Given the description of an element on the screen output the (x, y) to click on. 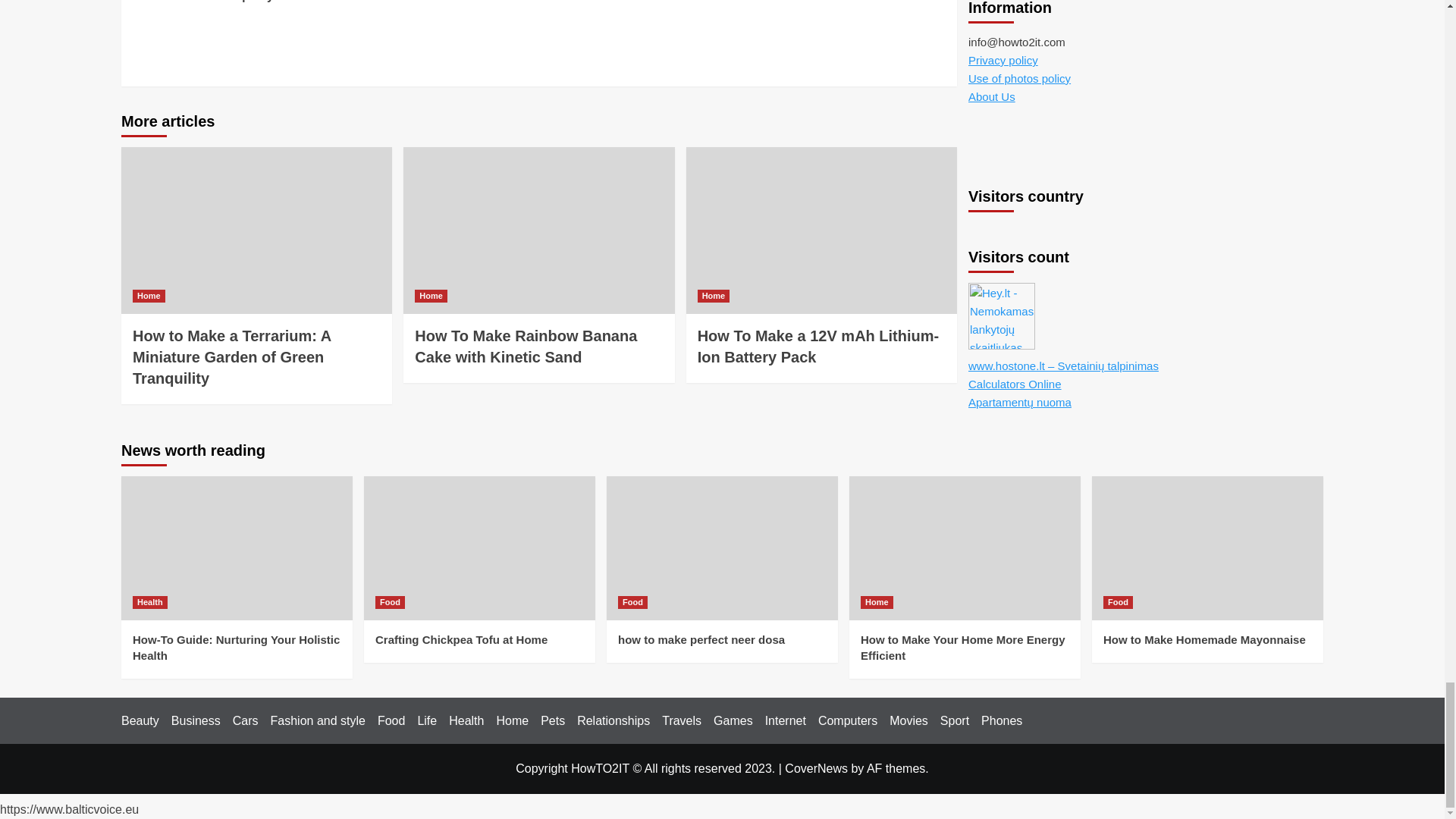
How To Make a 12V mAh Lithium-Ion Battery Pack (818, 346)
Home (713, 295)
Home (430, 295)
Home (148, 295)
How To Make Rainbow Banana Cake with Kinetic Sand (525, 346)
